Given the description of an element on the screen output the (x, y) to click on. 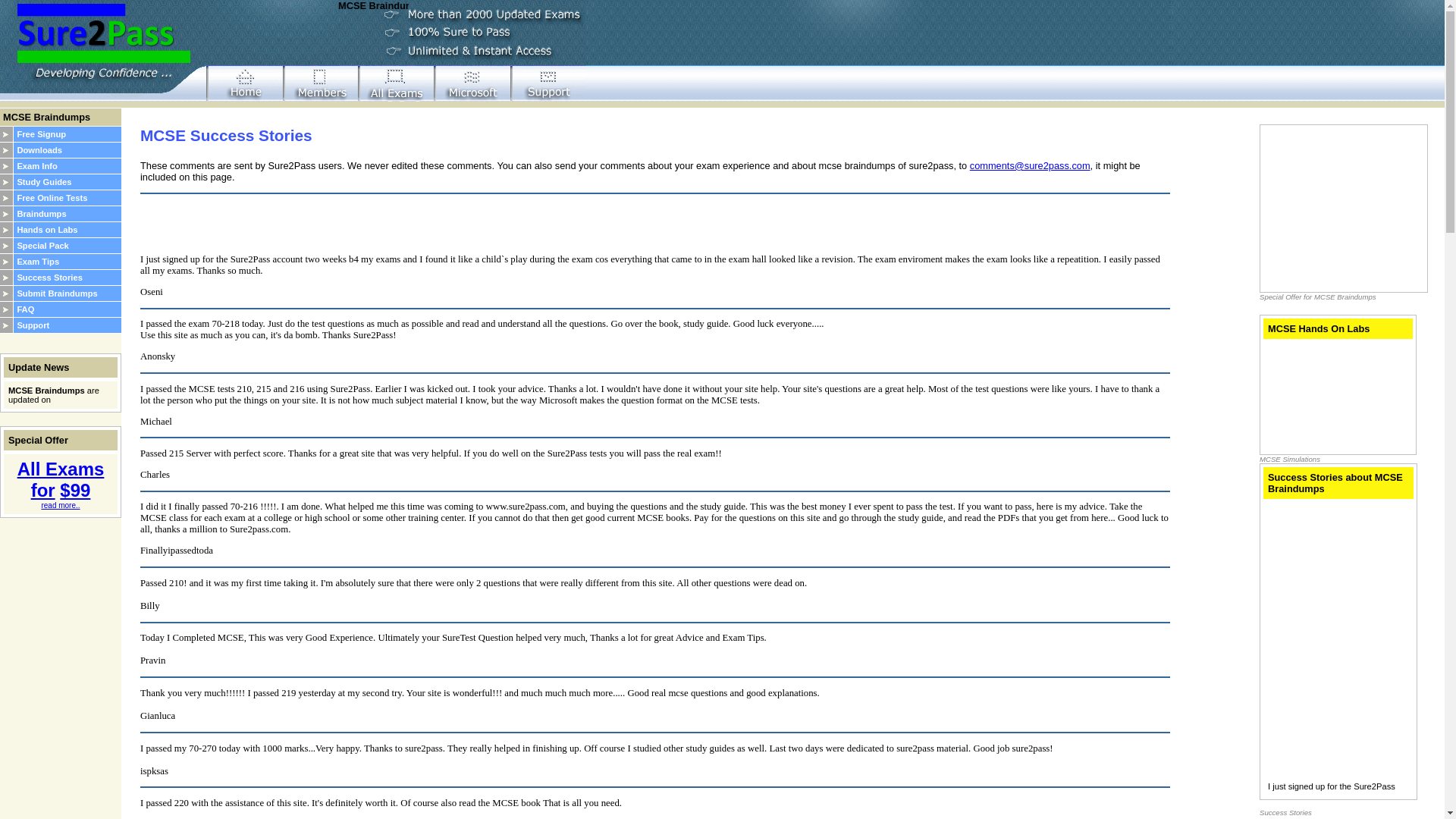
Free Signup (40, 133)
Support (32, 325)
Exam Info (36, 165)
Special Pack (42, 245)
FAQ (24, 308)
Study Guides (43, 181)
Hands on Labs (46, 229)
Downloads (39, 149)
for (42, 489)
read more.. (60, 505)
Submit Braindumps (56, 293)
Free Online Tests (51, 197)
All Exams (60, 468)
Exam Tips (37, 261)
Success Stories (48, 276)
